Given the description of an element on the screen output the (x, y) to click on. 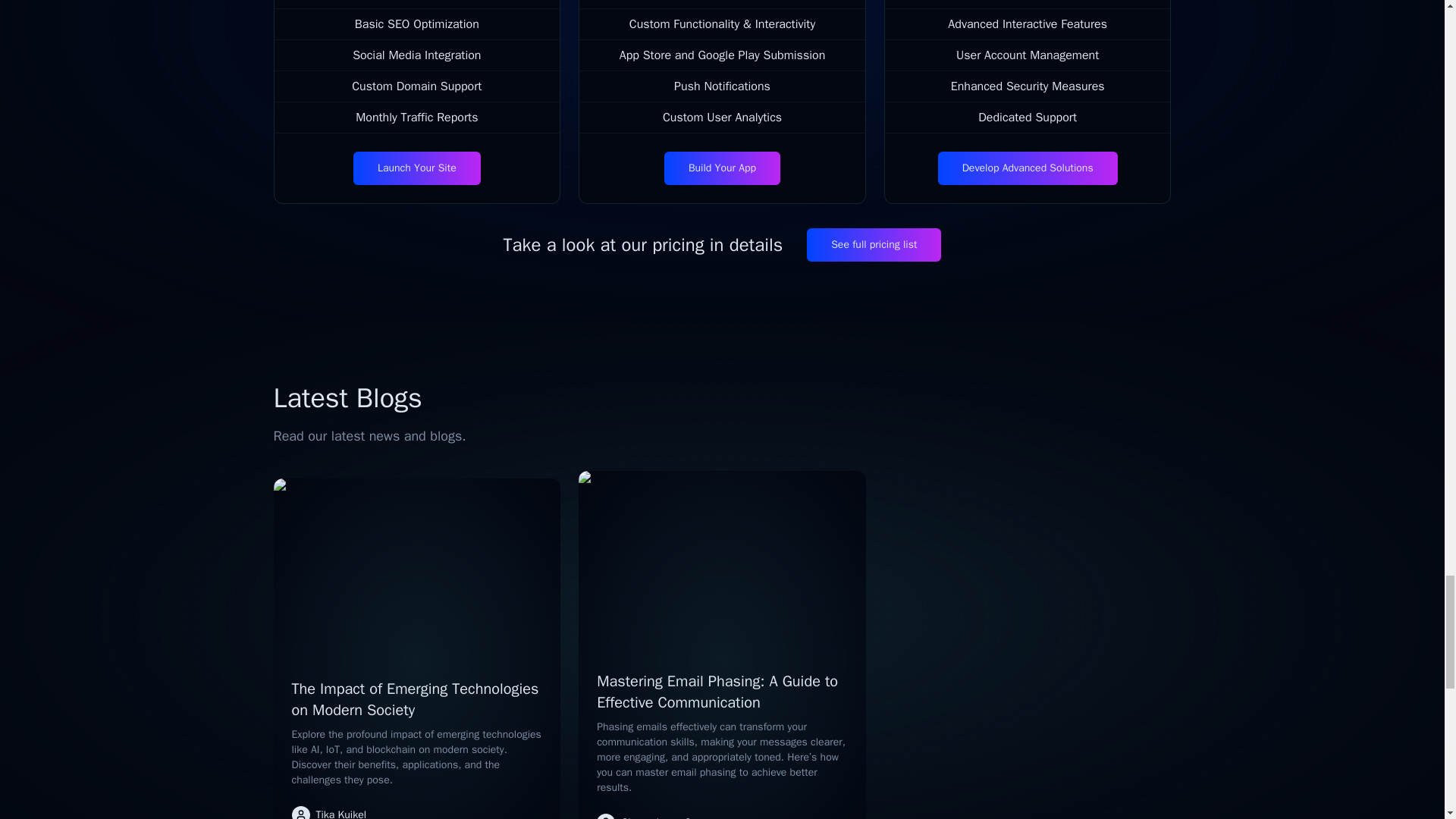
Launch Your Site (416, 168)
The Impact of Emerging Technologies on Modern Society (414, 699)
Mastering Email Phasing: A Guide to Effective Communication (717, 691)
Develop Advanced Solutions (1027, 168)
See full pricing list (873, 244)
Build Your App (721, 168)
